Given the description of an element on the screen output the (x, y) to click on. 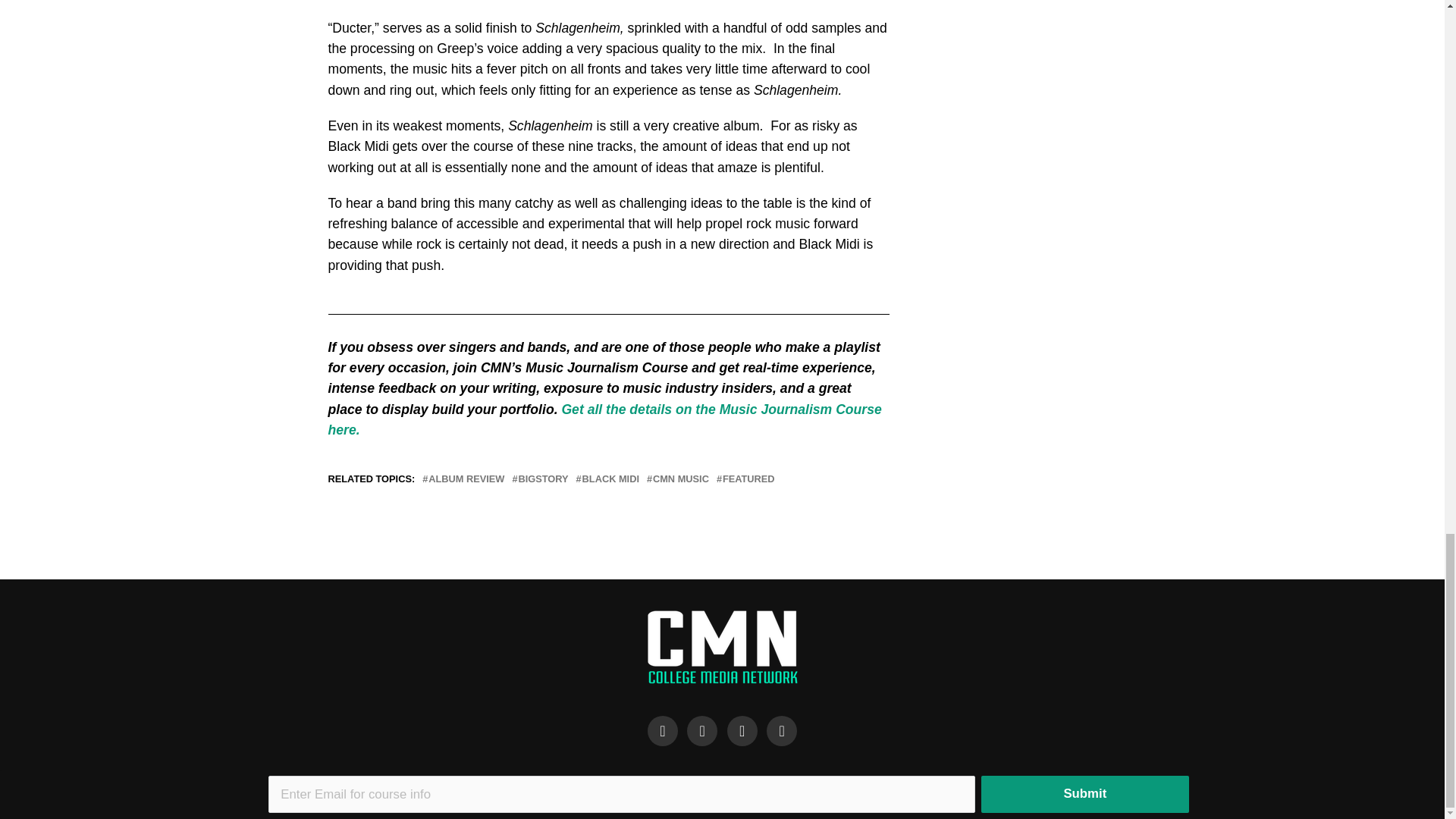
Get all the details on the Music Journalism Course here. (603, 419)
CMN MUSIC (680, 479)
FEATURED (748, 479)
BIGSTORY (542, 479)
BLACK MIDI (610, 479)
ALBUM REVIEW (465, 479)
